Given the description of an element on the screen output the (x, y) to click on. 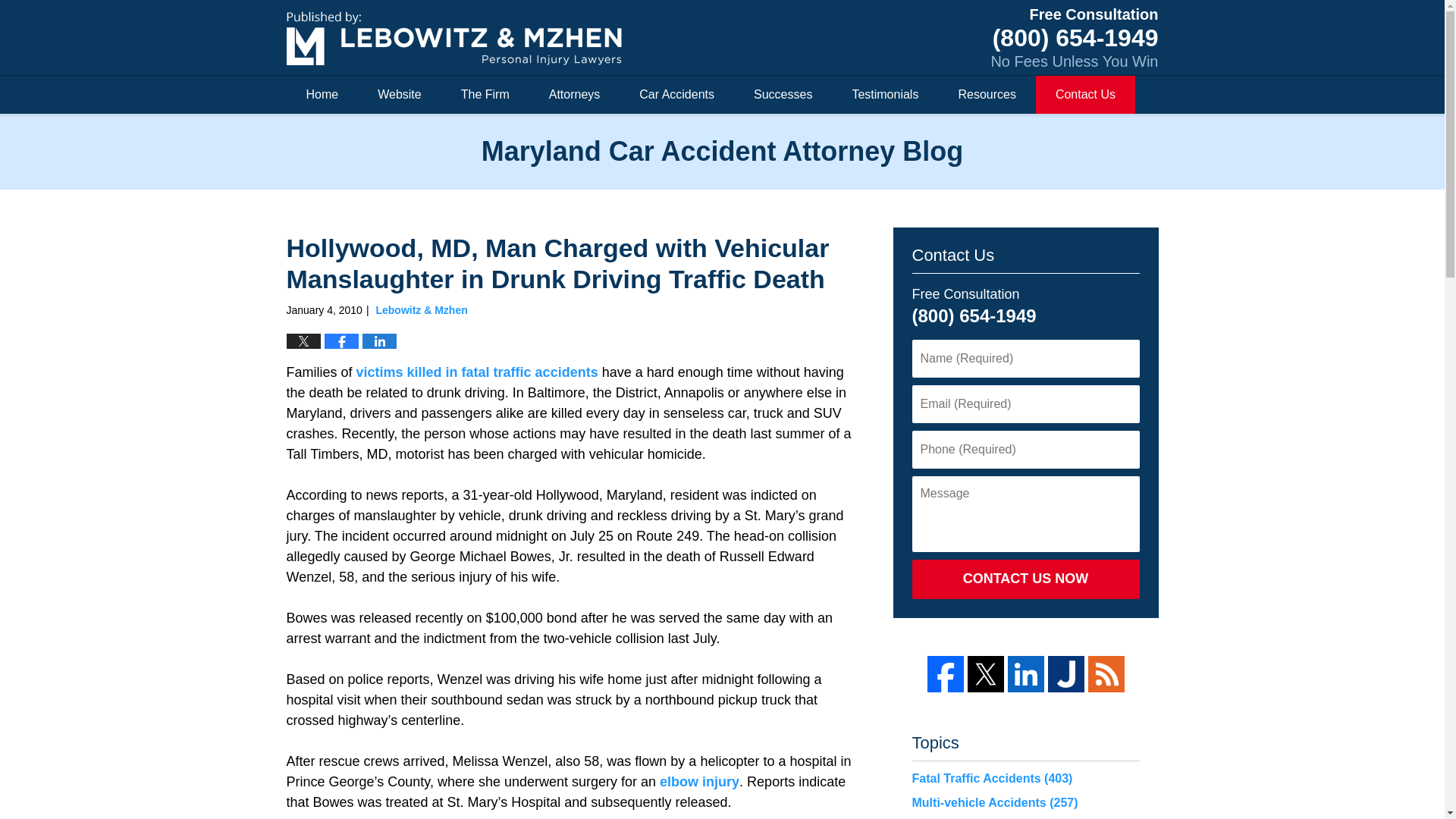
Contact Us (1085, 94)
Feed (1105, 674)
Facebook (944, 674)
CONTACT US NOW (1024, 578)
Car Accidents (676, 94)
Resources (986, 94)
Website (399, 94)
Successes (782, 94)
Twitter (986, 674)
LinkedIn (1025, 674)
victims killed in fatal traffic accidents (477, 372)
Justia (1066, 674)
Maryland Car Accident Attorney Blog (453, 37)
The Firm (485, 94)
Home (322, 94)
